Given the description of an element on the screen output the (x, y) to click on. 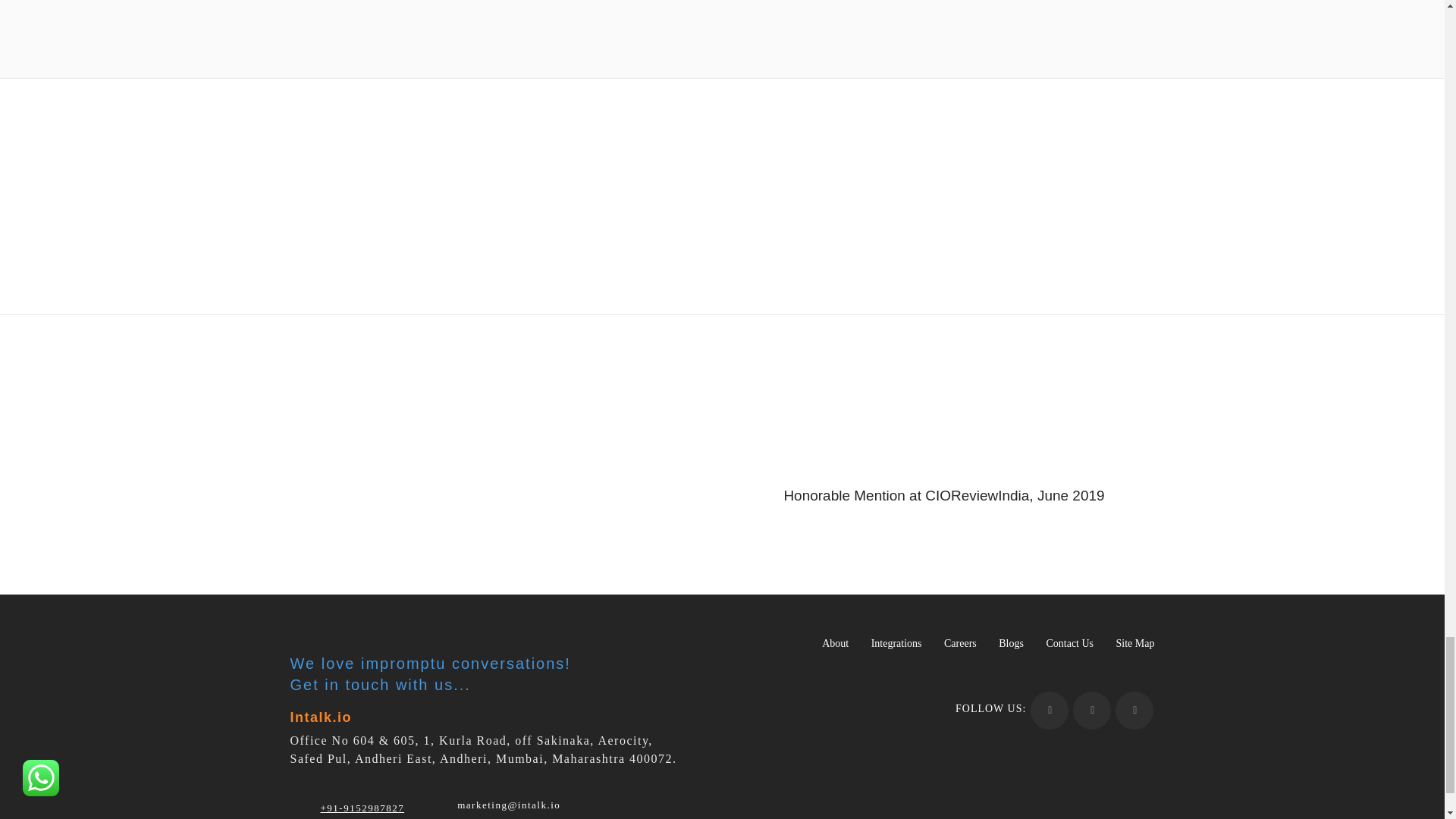
InTalk.io Facebook Page (1049, 710)
InTalk.io Linkedin Page (1091, 710)
InTalk.io Twitter Page (1134, 710)
